Given the description of an element on the screen output the (x, y) to click on. 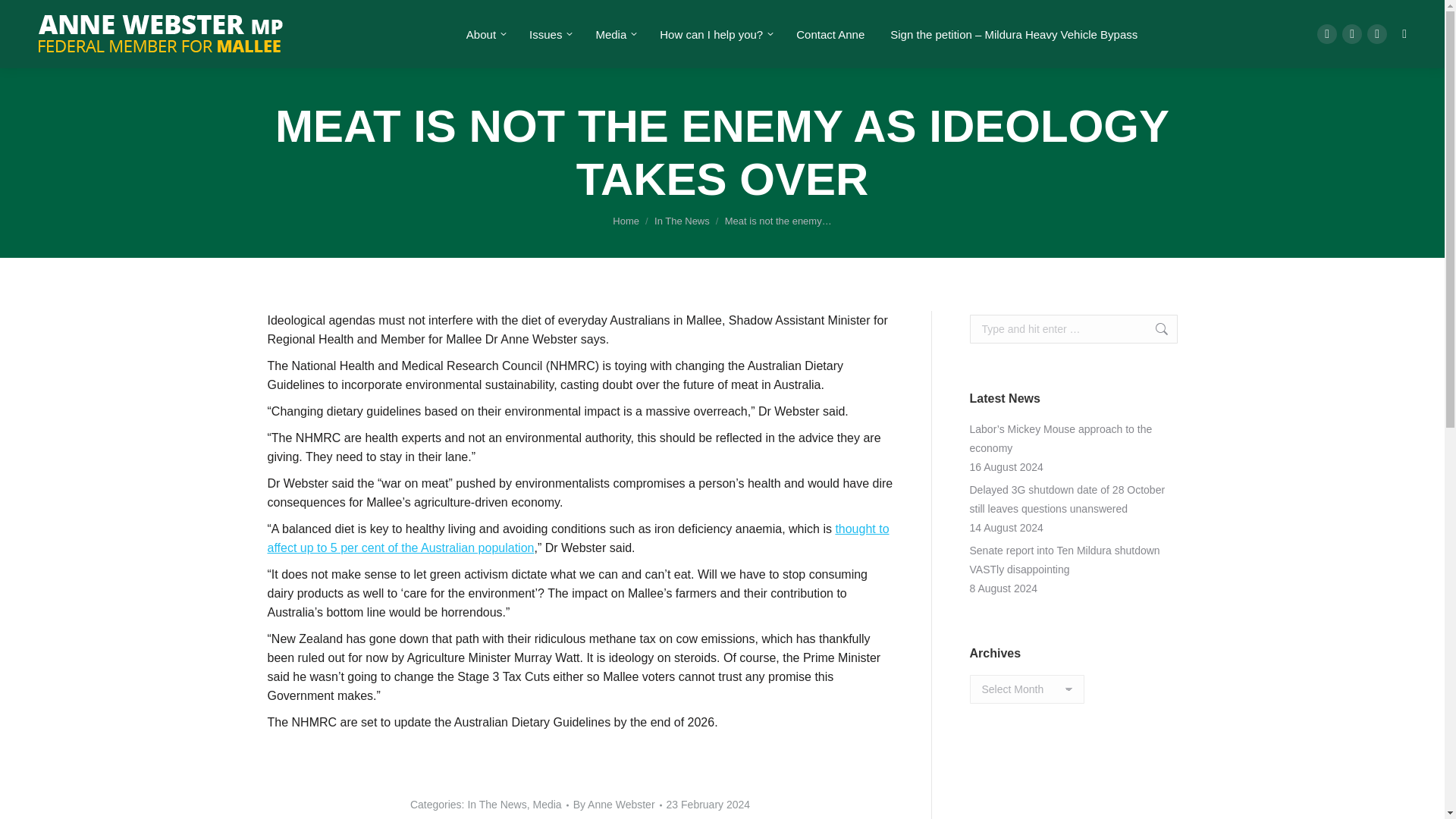
Facebook page opens in new window (1326, 34)
X page opens in new window (1351, 34)
X page opens in new window (1351, 34)
Media (614, 33)
YouTube page opens in new window (1377, 34)
Go! (1153, 328)
Home (625, 220)
Go! (1153, 328)
Go! (24, 16)
How can I help you? (715, 33)
